Given the description of an element on the screen output the (x, y) to click on. 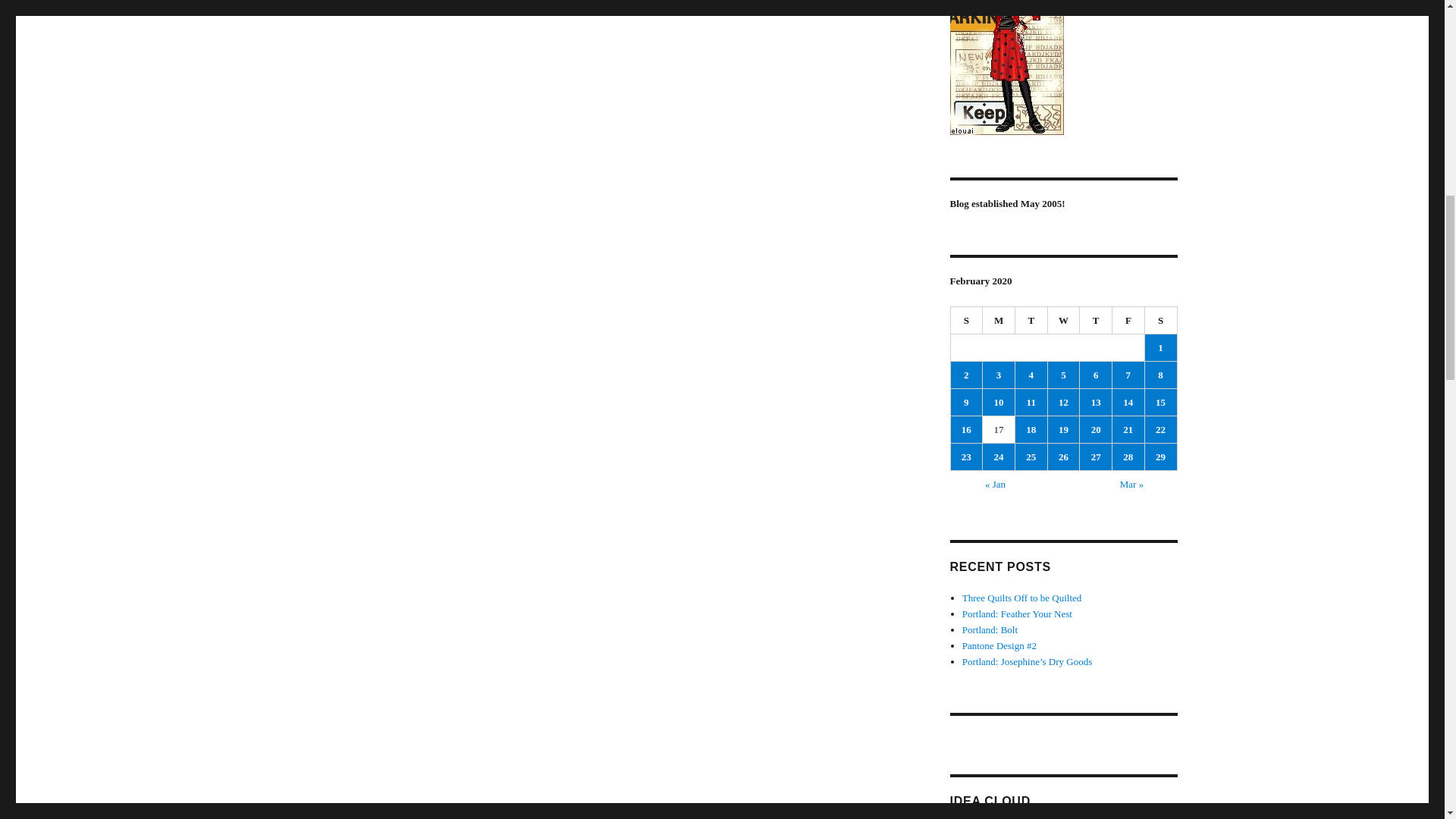
Wednesday (1064, 320)
Saturday (1160, 320)
Jaye, Artquiltmaker.com (1062, 67)
Friday (1128, 320)
Sunday (967, 320)
Tuesday (1031, 320)
Thursday (1096, 320)
Monday (998, 320)
